Given the description of an element on the screen output the (x, y) to click on. 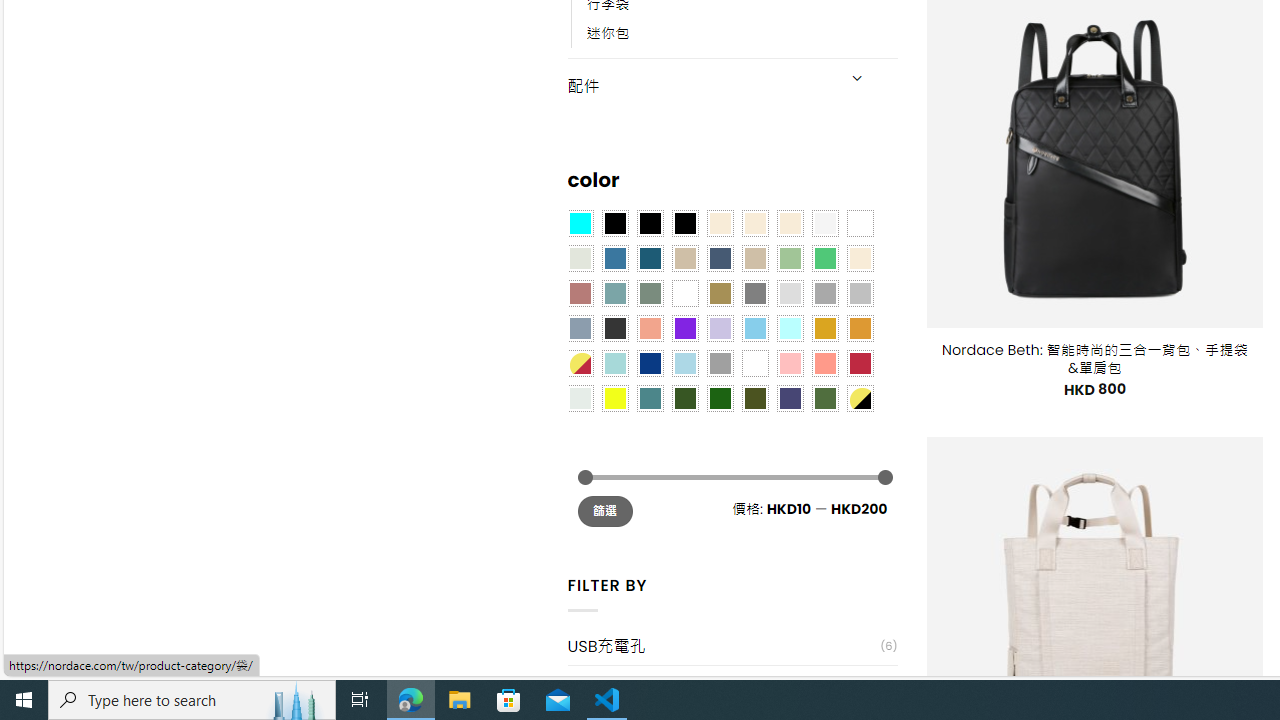
Dull Nickle (579, 398)
